Given the description of an element on the screen output the (x, y) to click on. 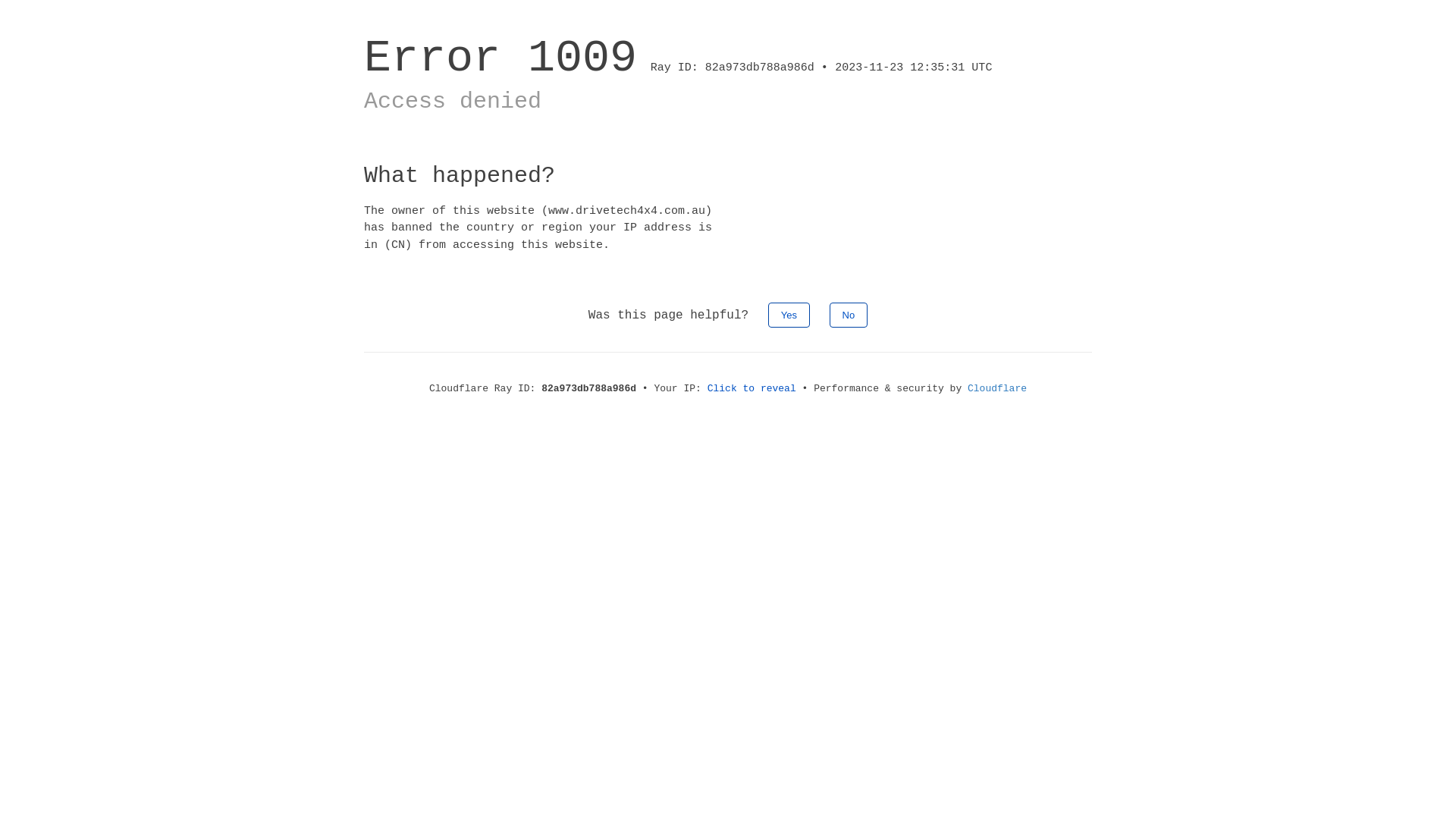
Click to reveal Element type: text (751, 388)
No Element type: text (848, 314)
Cloudflare Element type: text (996, 388)
Yes Element type: text (788, 314)
